Given the description of an element on the screen output the (x, y) to click on. 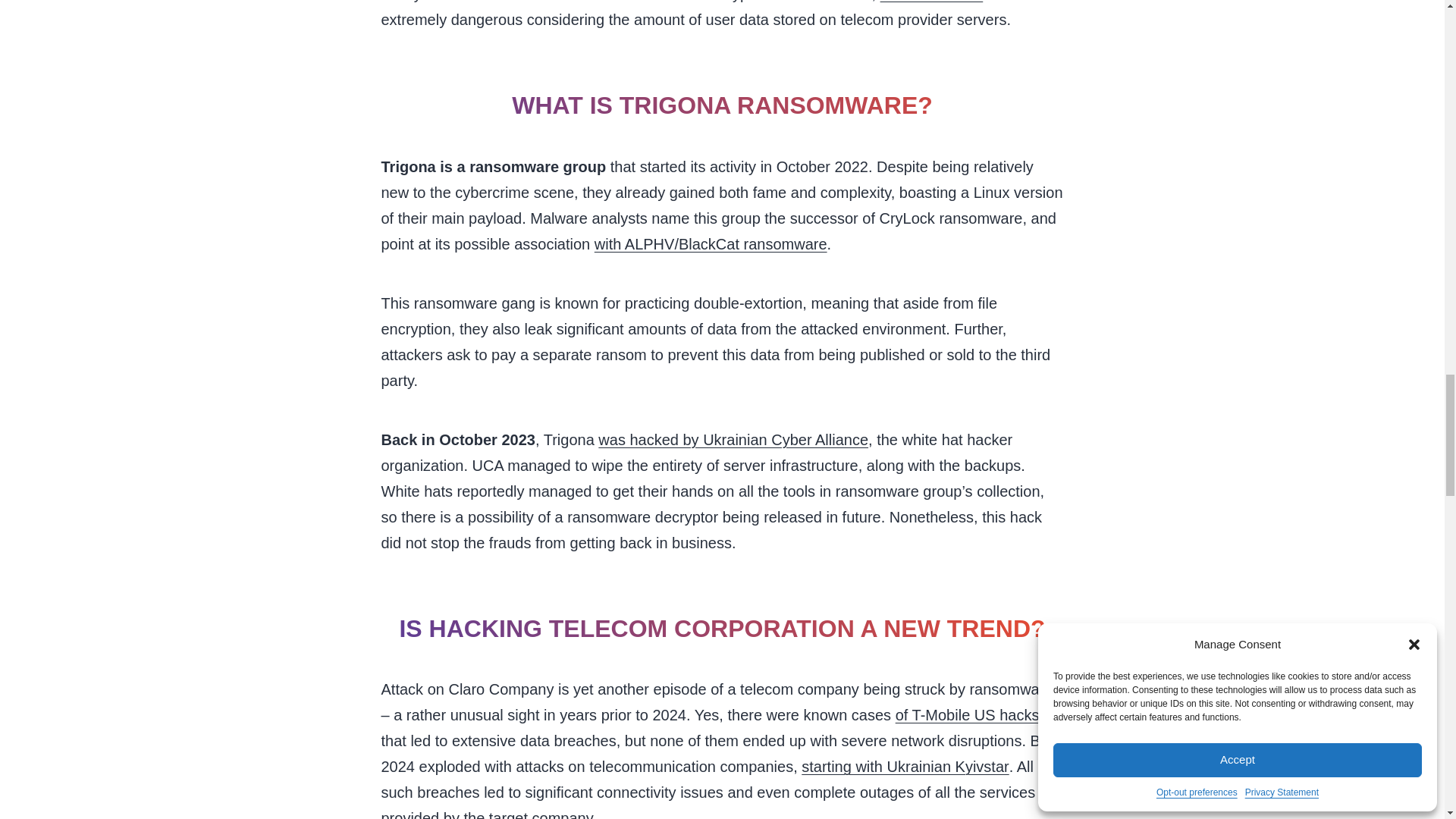
was hacked by Ukrainian Cyber Alliance (732, 439)
starting with Ukrainian Kyivstar (905, 766)
of T-Mobile US hacks (967, 714)
data exfiltration (932, 3)
